Given the description of an element on the screen output the (x, y) to click on. 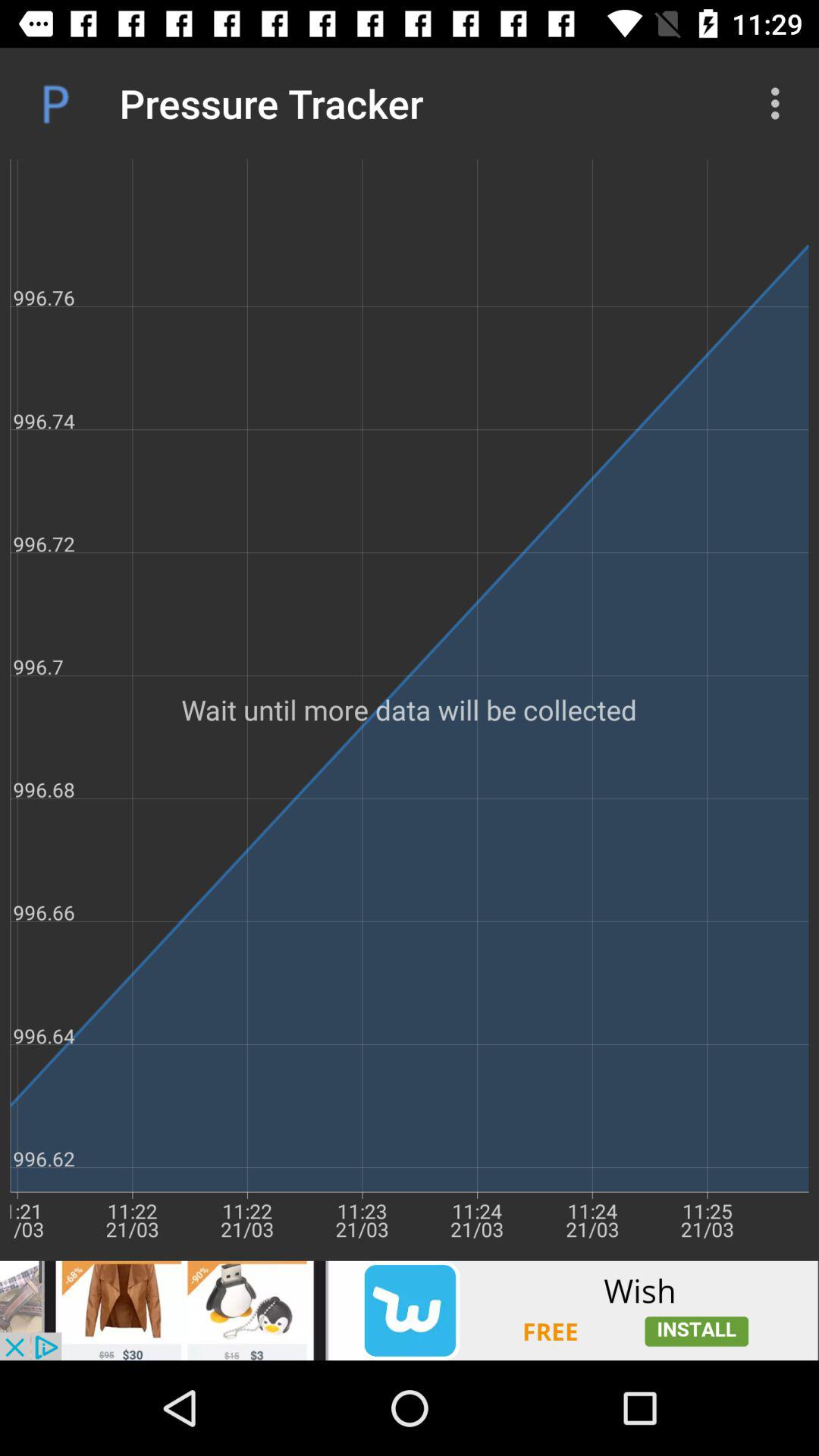
advertisement click option (409, 1310)
